Given the description of an element on the screen output the (x, y) to click on. 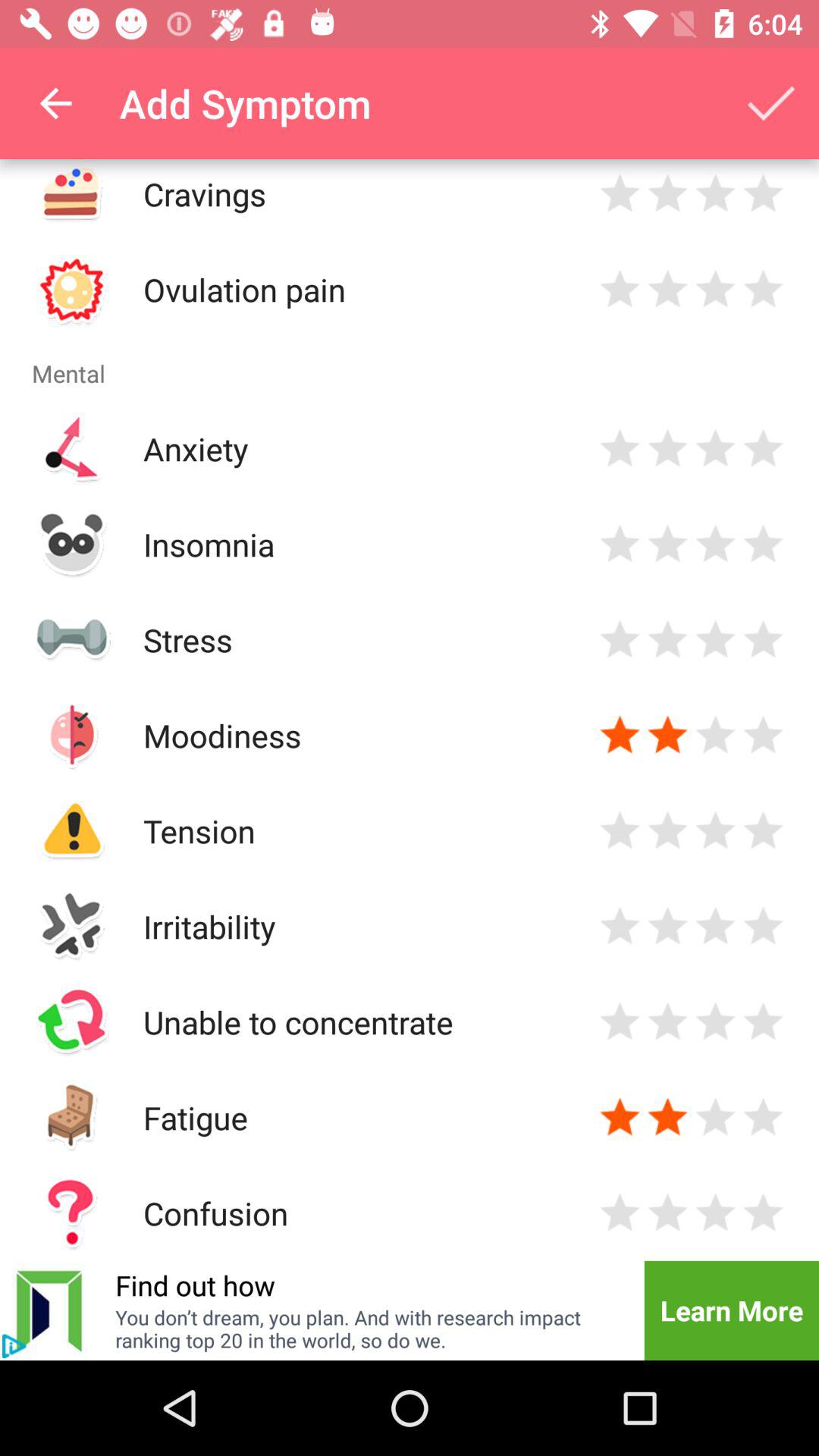
two star rating (667, 544)
